Given the description of an element on the screen output the (x, y) to click on. 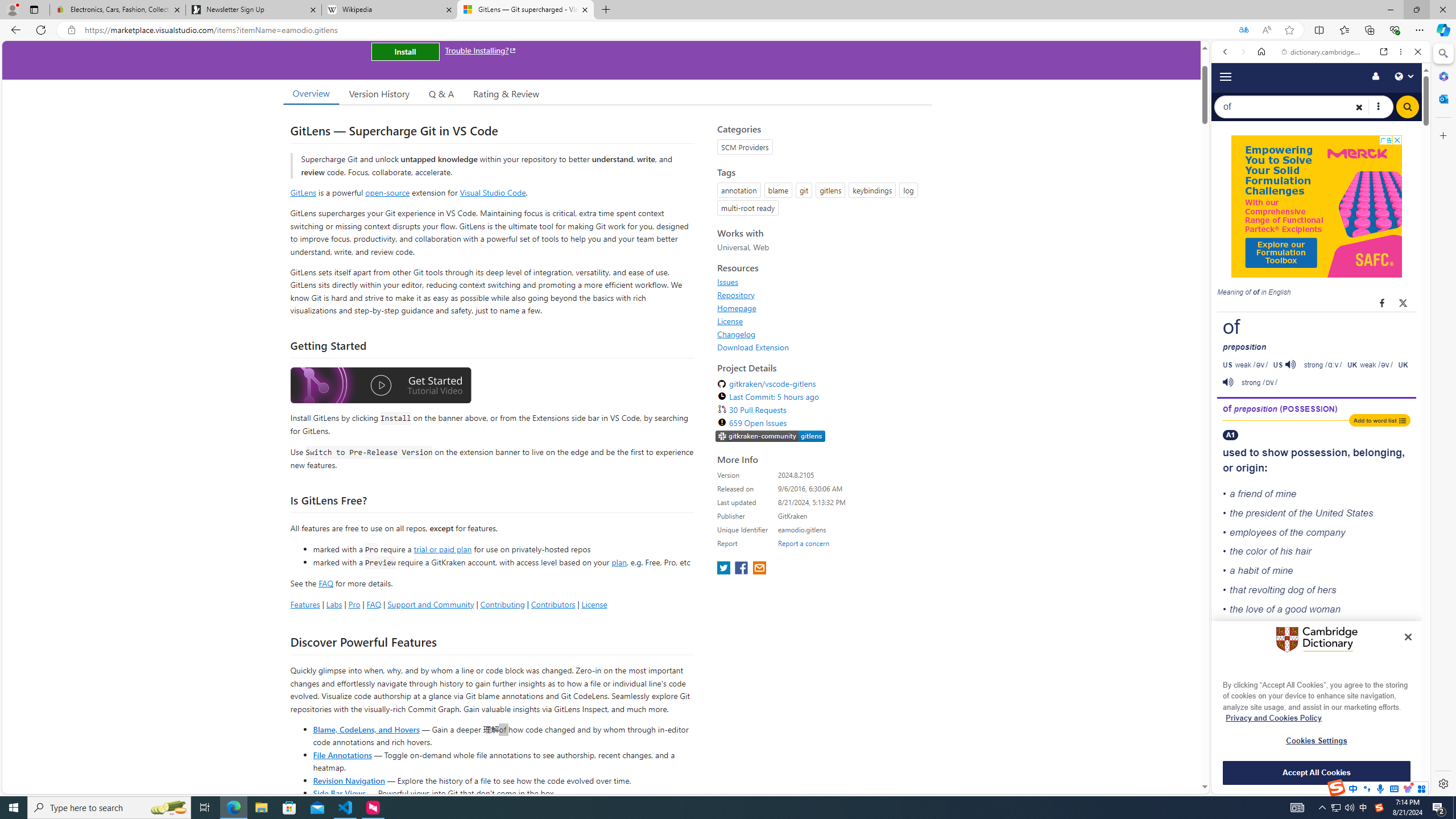
English (US) (1320, 329)
English (Uk) (1320, 357)
possession (1319, 452)
Preferences (1403, 191)
This site scope (1259, 102)
Contributors (552, 603)
Search the web (1326, 78)
habit (1248, 570)
garlic (1254, 785)
reserved (1335, 688)
